Given the description of an element on the screen output the (x, y) to click on. 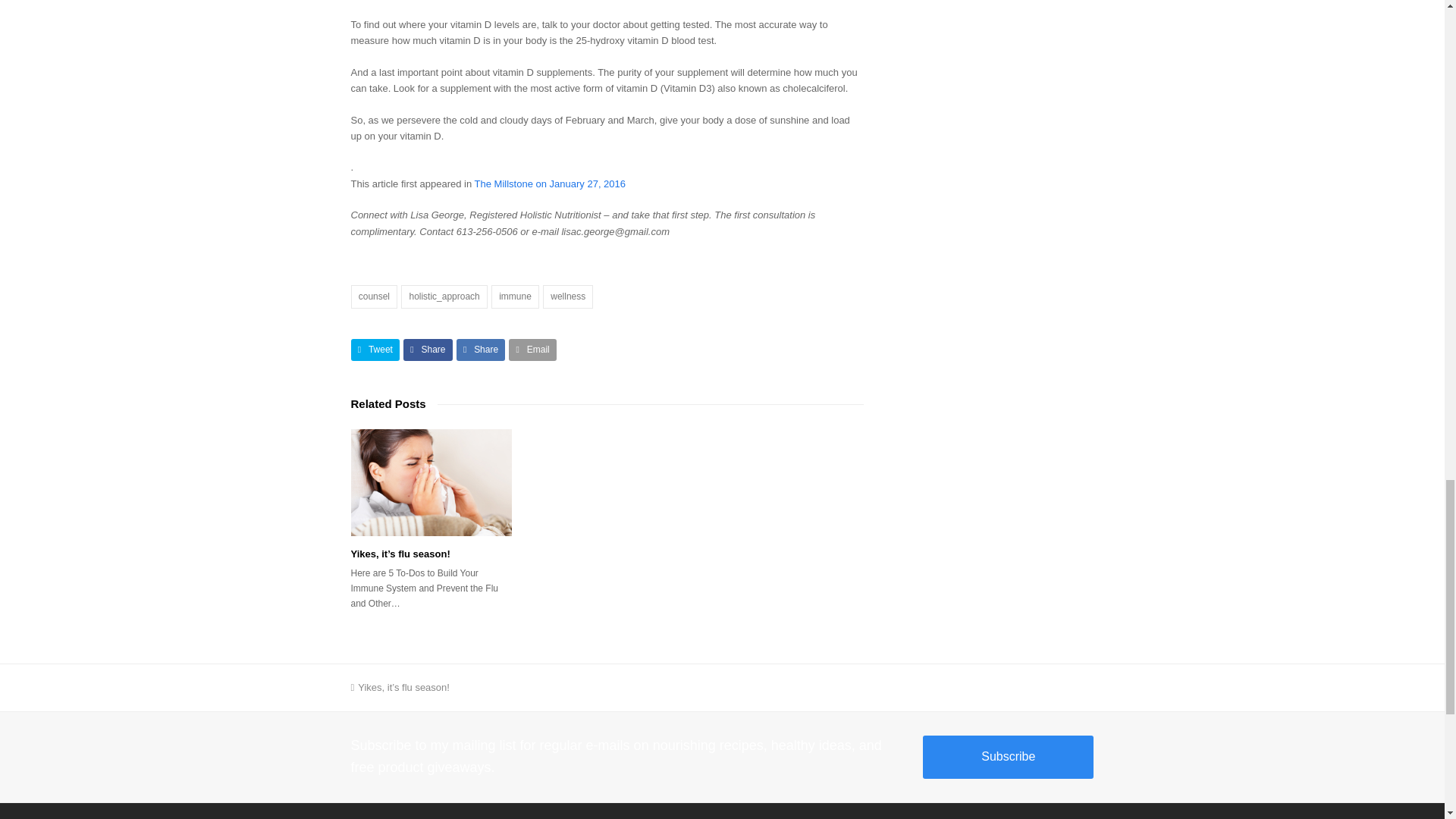
The Millstone on January 27, 2016 (550, 183)
counsel (373, 296)
